Given the description of an element on the screen output the (x, y) to click on. 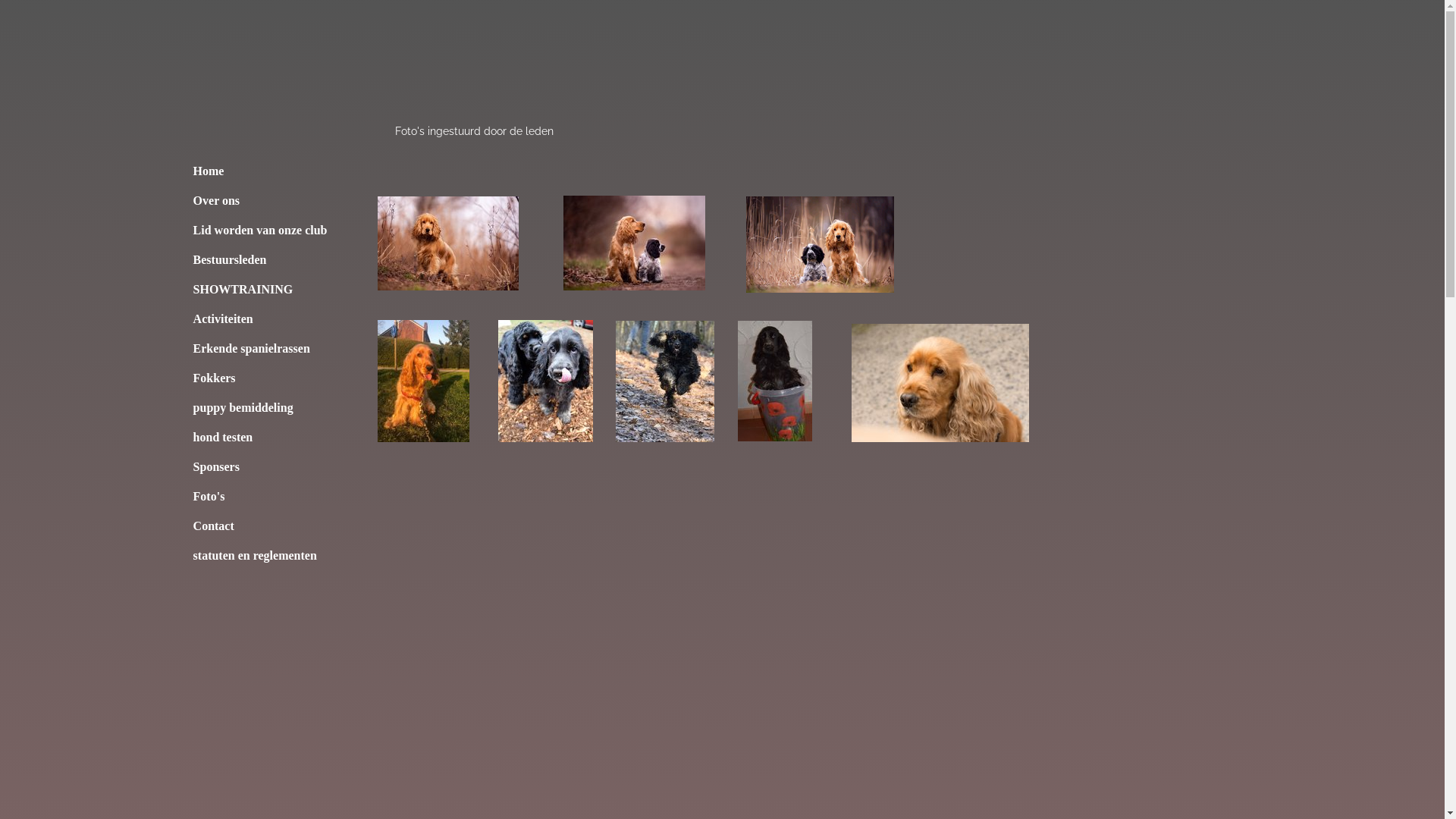
Bestuursleden Element type: text (260, 259)
Fokkers Element type: text (260, 377)
Sponsers Element type: text (260, 466)
Contact Element type: text (260, 525)
Lid worden van onze club Element type: text (260, 229)
puppy bemiddeling Element type: text (260, 407)
statuten en reglementen Element type: text (260, 555)
SHOWTRAINING Element type: text (260, 289)
Home Element type: text (260, 170)
Erkende spanielrassen Element type: text (260, 348)
Over ons Element type: text (260, 200)
Foto's Element type: text (260, 496)
hond testen Element type: text (260, 436)
Activiteiten Element type: text (260, 318)
